Given the description of an element on the screen output the (x, y) to click on. 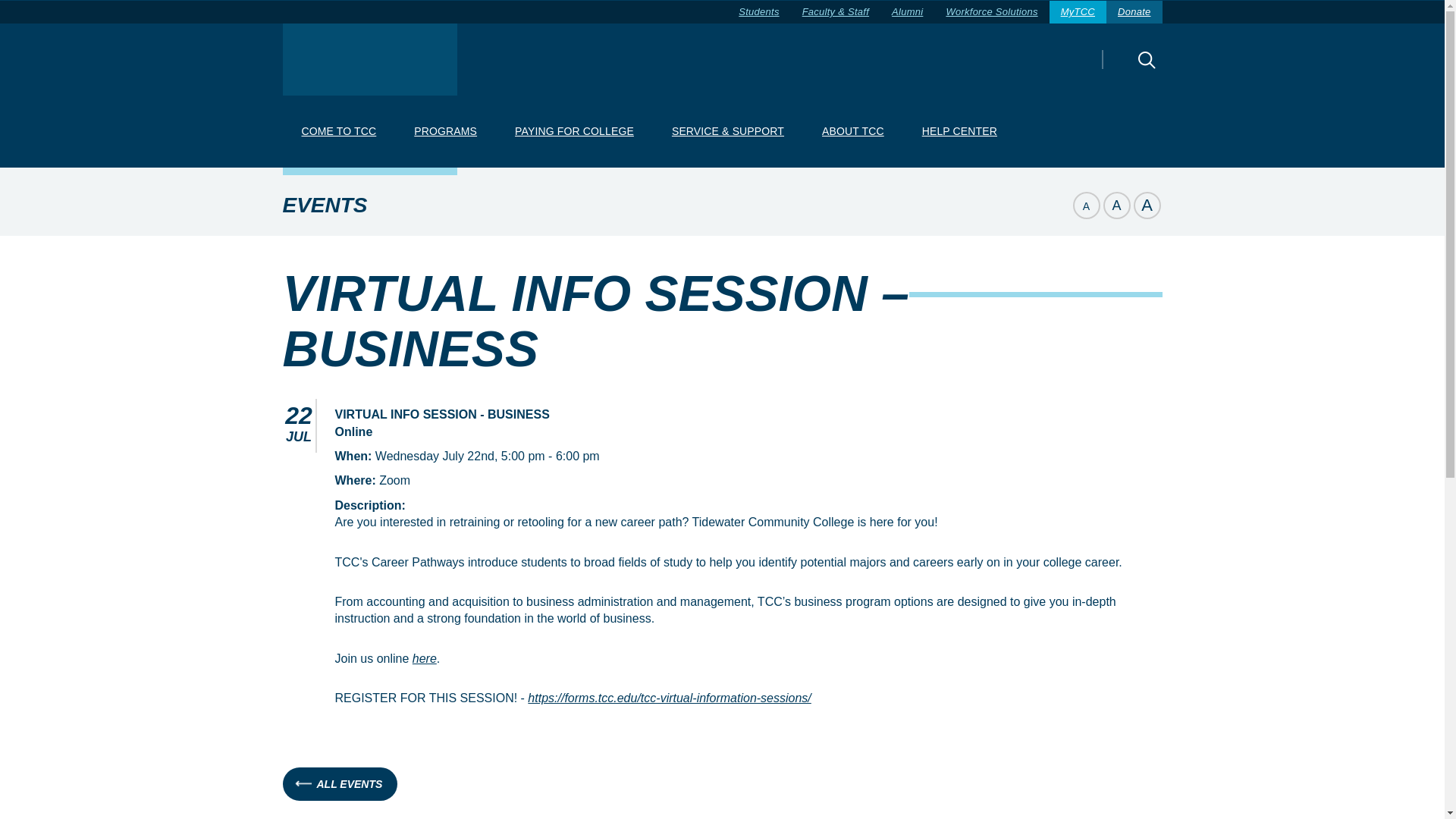
Tidewater Community College (369, 59)
Alumni (907, 11)
Set page copy to large size (1146, 205)
Set page copy to small size (1085, 205)
Set page copy to normal size (1115, 205)
Search (1119, 70)
PROGRAMS (445, 131)
MyTCC (1077, 11)
Donate (1133, 11)
COME TO TCC (338, 131)
Students (758, 11)
Workforce Solutions (991, 11)
